Given the description of an element on the screen output the (x, y) to click on. 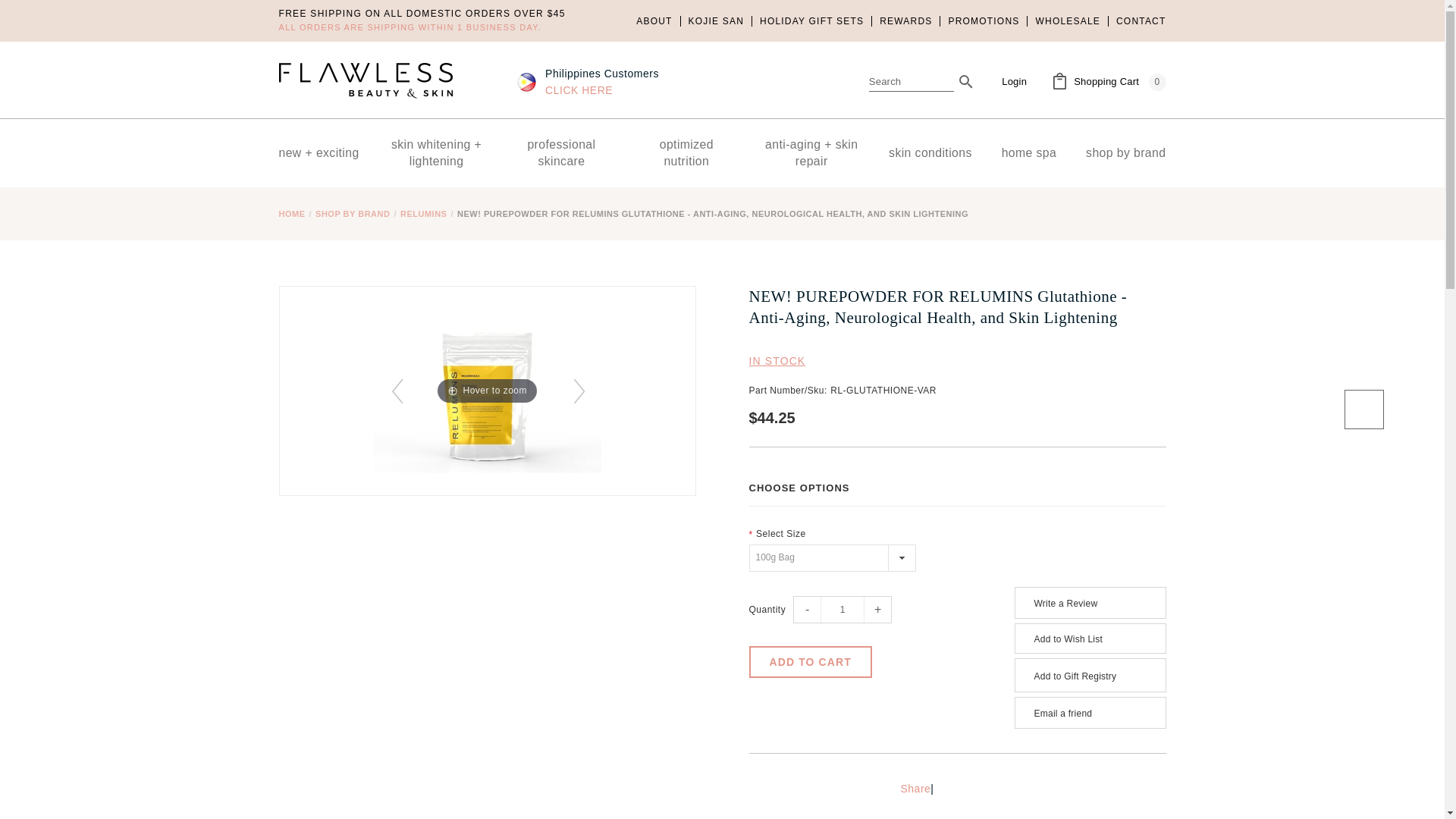
CONTACT (1137, 20)
ABOUT (657, 20)
PROMOTIONS (982, 20)
Shopping Cart 0 (1109, 81)
KOJIE SAN (715, 20)
WHOLESALE (1067, 20)
CLICK HERE (578, 90)
HOLIDAY GIFT SETS (810, 20)
REWARDS (904, 20)
1 (842, 609)
Login (1013, 81)
